Given the description of an element on the screen output the (x, y) to click on. 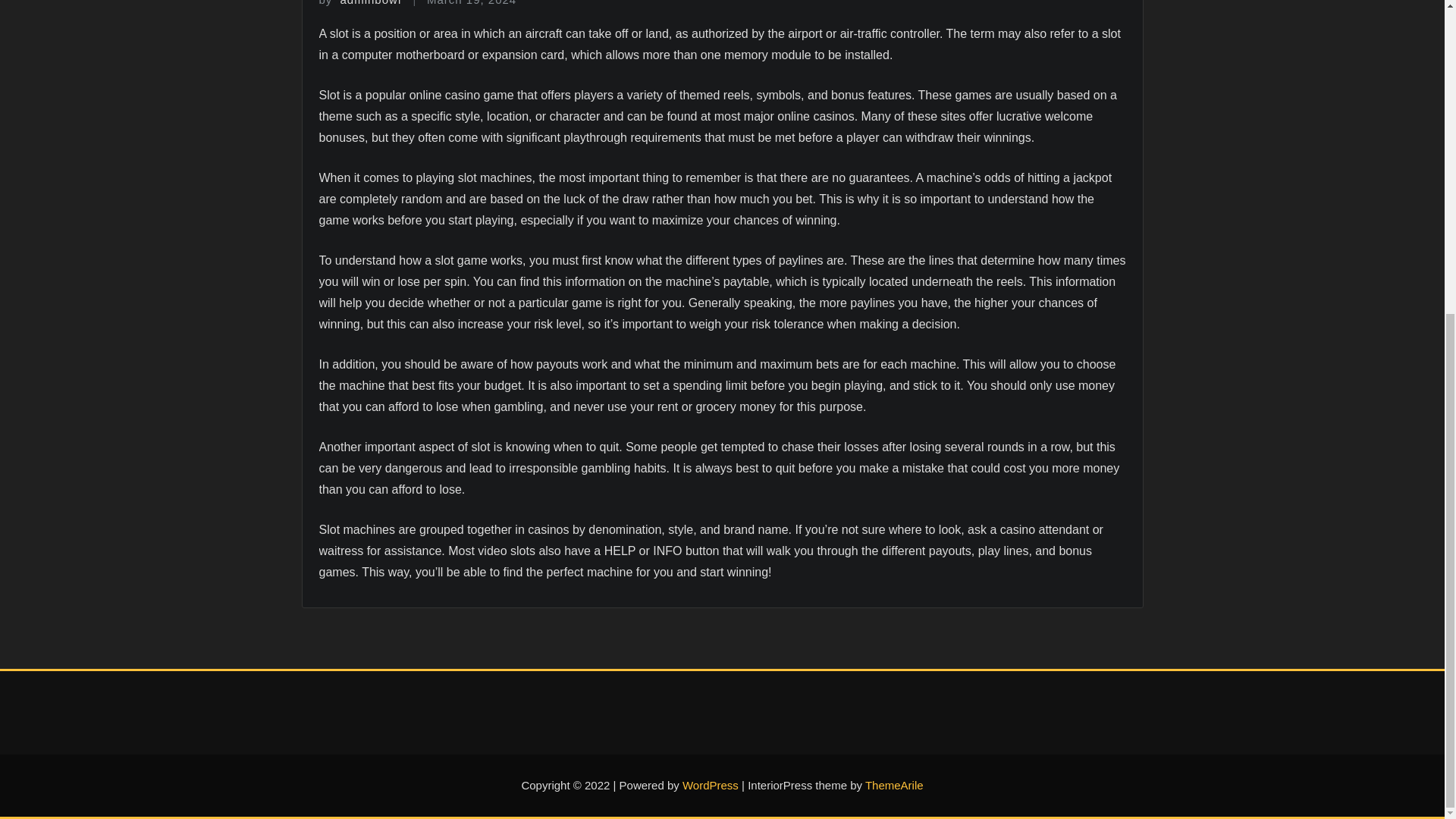
March 19, 2024 (471, 2)
by adminbowl (359, 2)
WordPress (710, 784)
ThemeArile (893, 784)
